Given the description of an element on the screen output the (x, y) to click on. 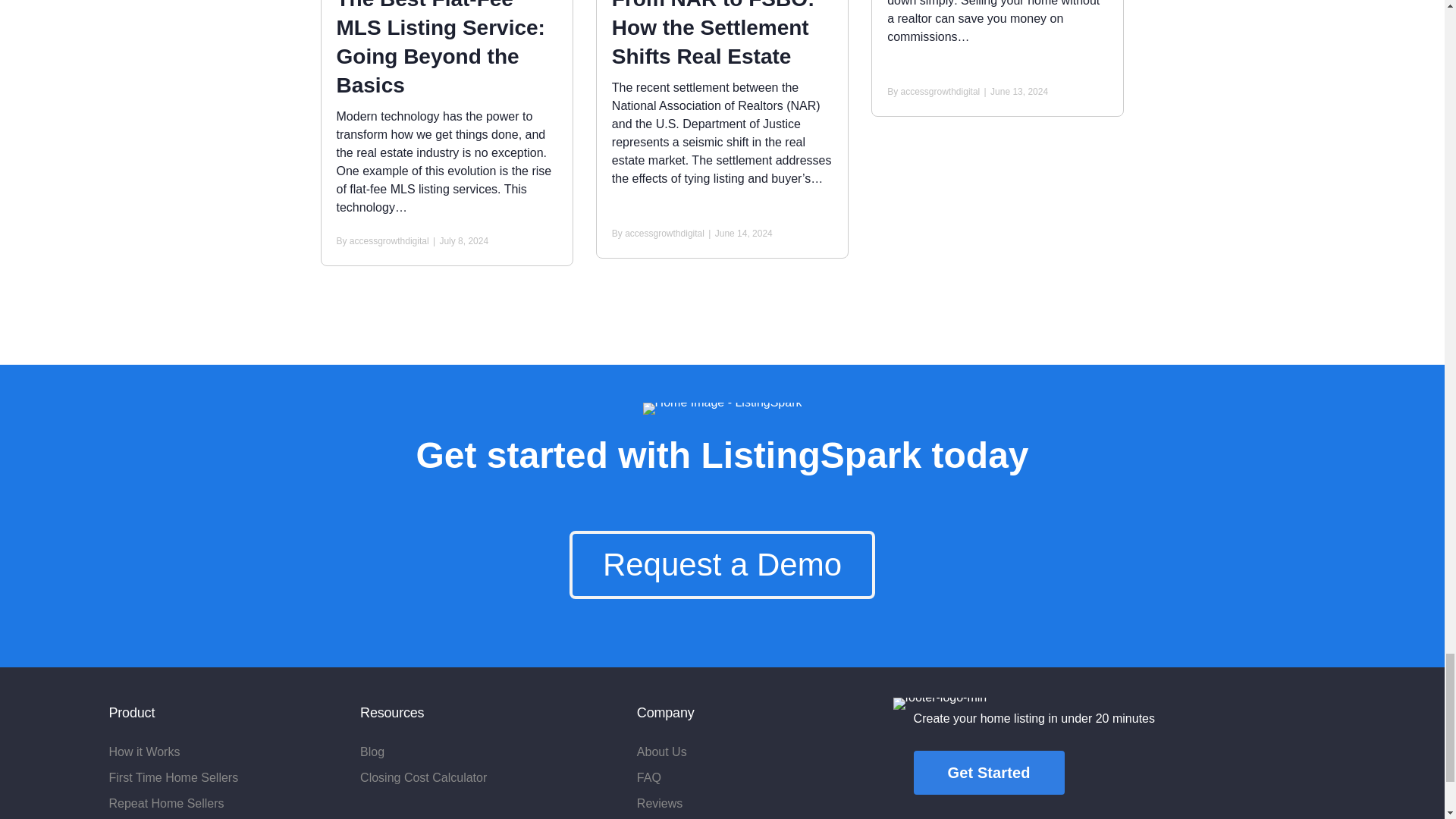
footer-logo-min (940, 703)
From NAR to FSBO: How the Settlement Shifts Real Estate (713, 33)
ListingSpark (722, 408)
